Given the description of an element on the screen output the (x, y) to click on. 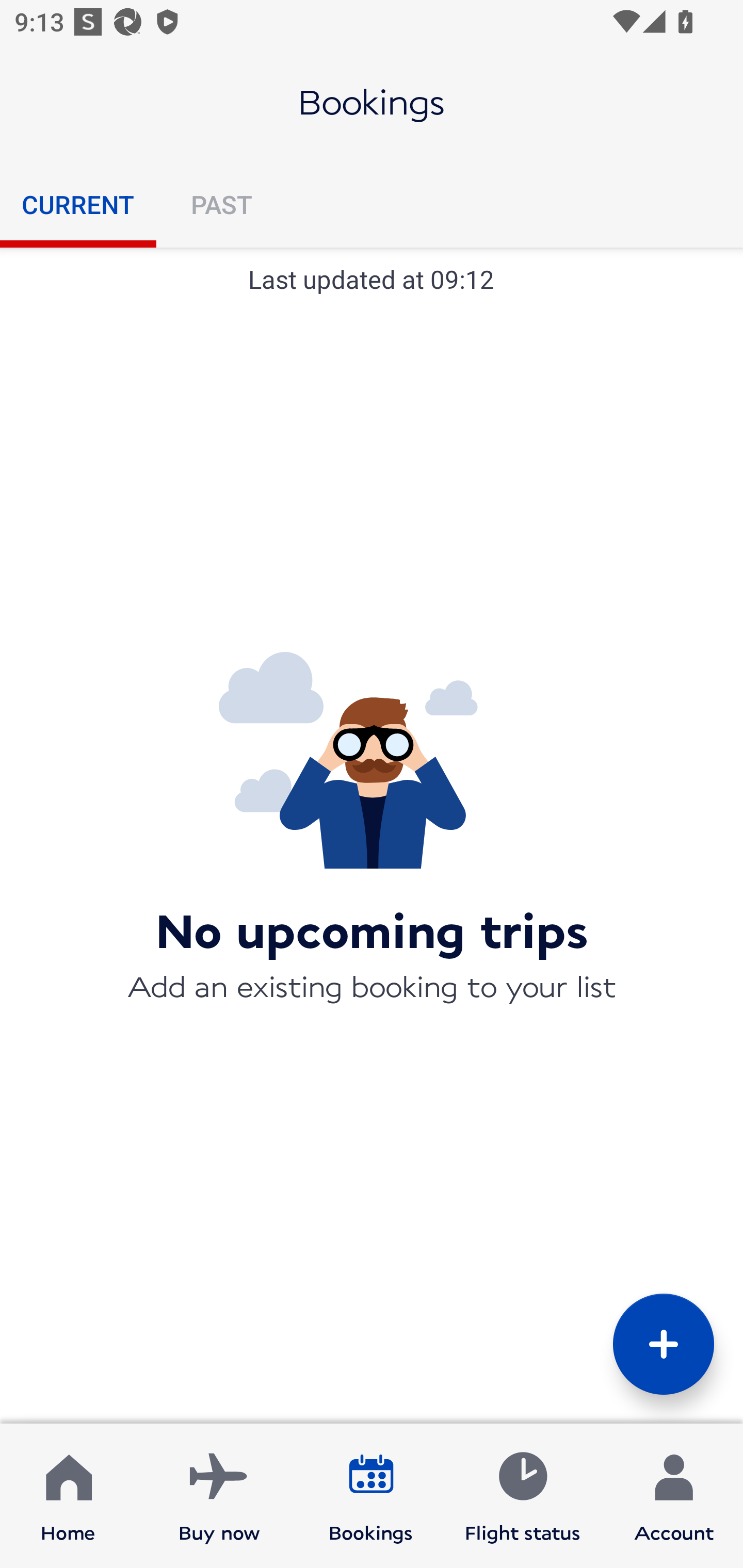
PAST (221, 204)
Home (68, 1495)
Buy now (219, 1495)
Flight status (522, 1495)
Account (674, 1495)
